Given the description of an element on the screen output the (x, y) to click on. 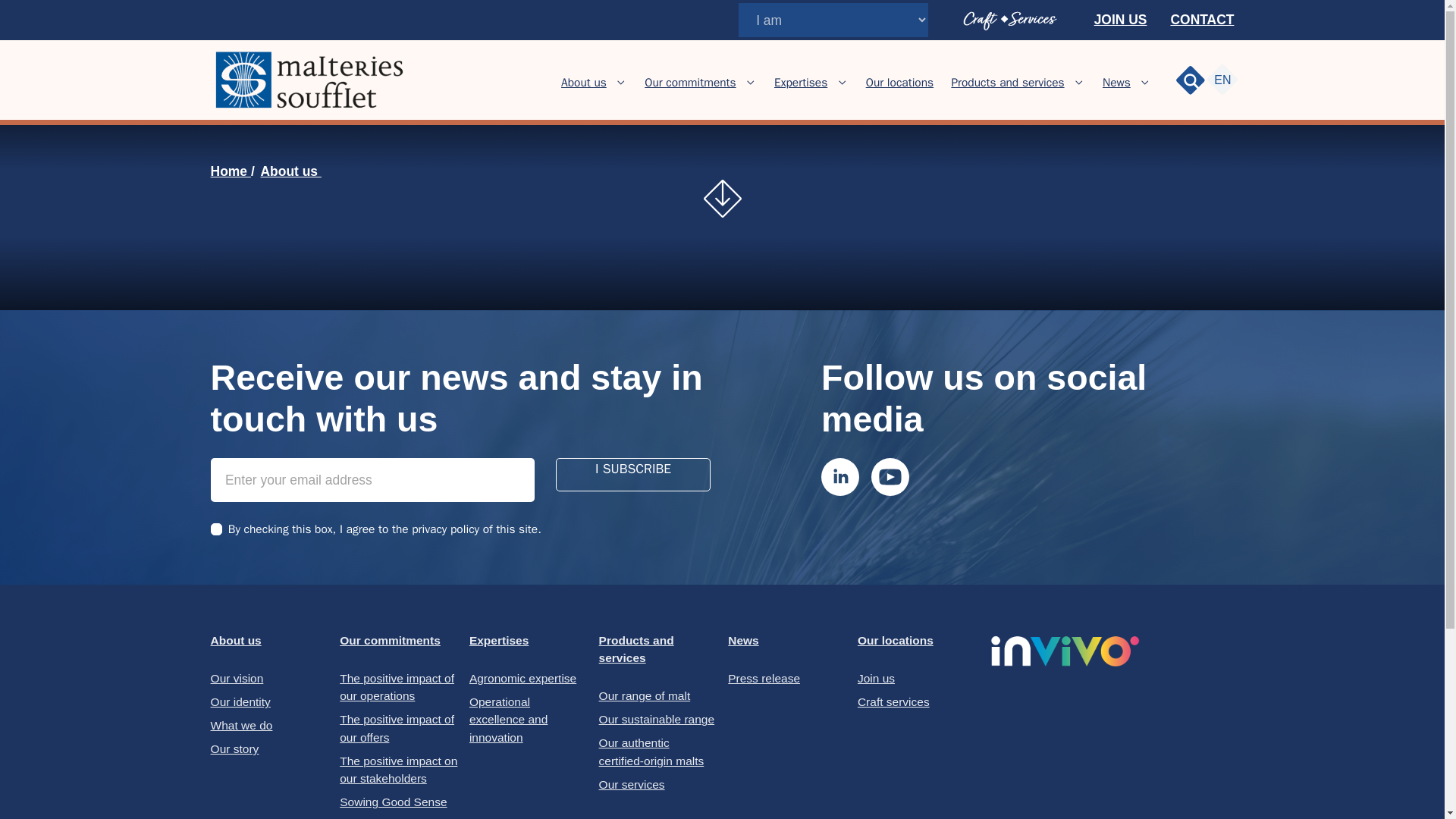
Back to Qui sommes-nous ?. (290, 171)
Products and services (1007, 83)
Our commitments (690, 83)
Suivez-nous sur Linkedin (840, 476)
JOIN US (1120, 19)
Suivez-nous sur Youtube (889, 476)
CONTACT (1201, 19)
Our locations (899, 83)
Back to Malteries Soufflet. (230, 171)
About us (583, 83)
Expertises (800, 83)
News (1116, 83)
